Given the description of an element on the screen output the (x, y) to click on. 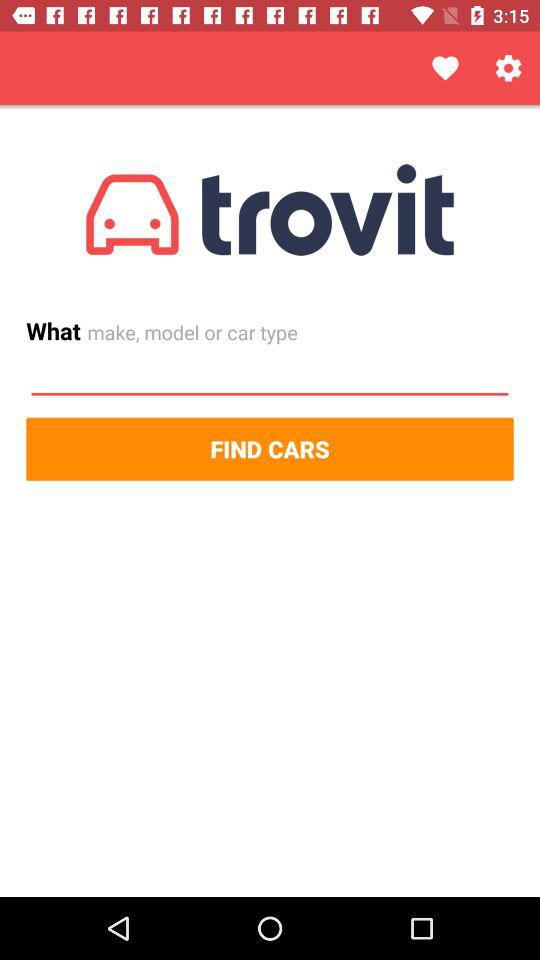
press the find cars icon (269, 448)
